Given the description of an element on the screen output the (x, y) to click on. 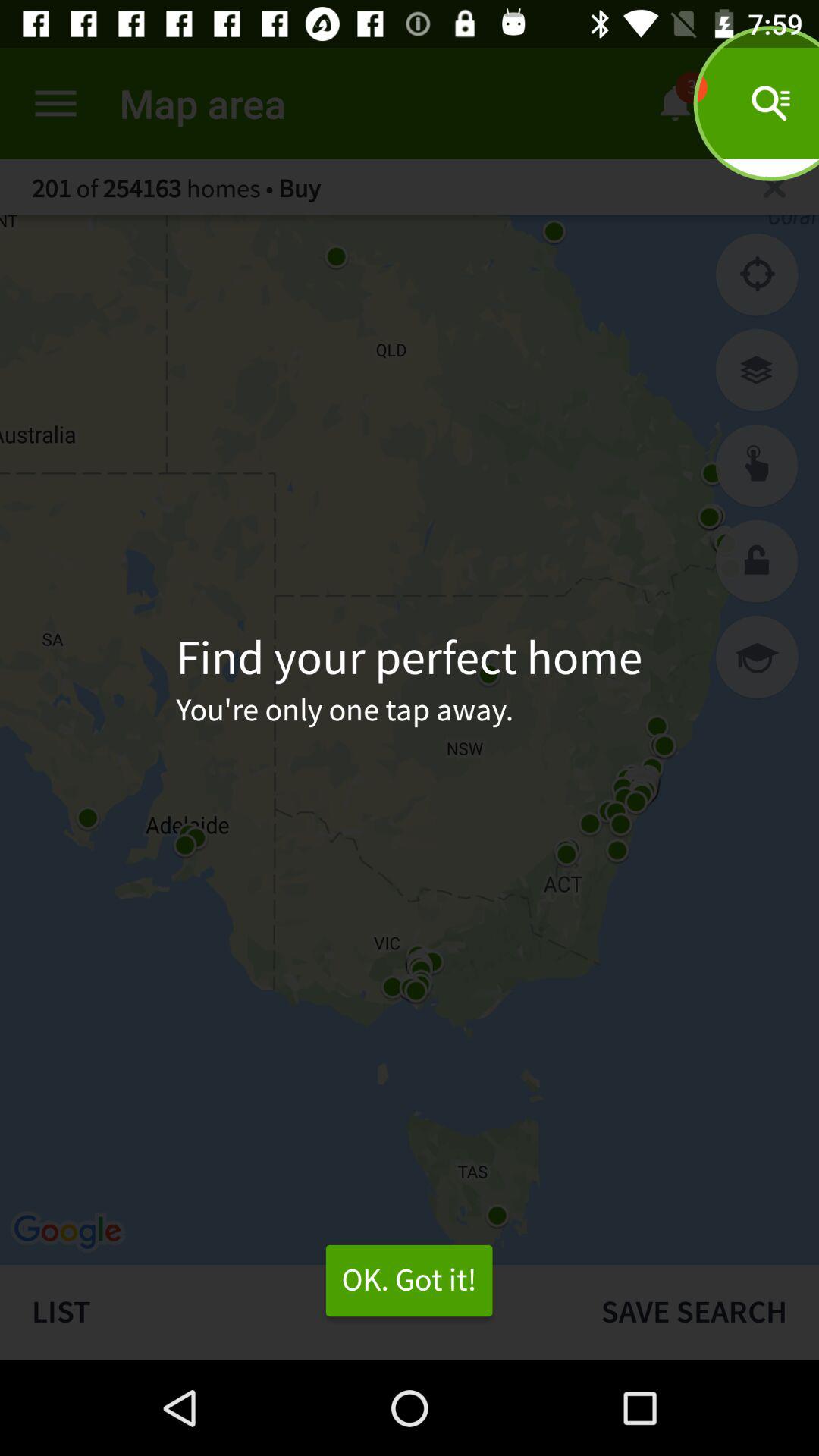
choose the app to the left of the map area item (55, 103)
